Given the description of an element on the screen output the (x, y) to click on. 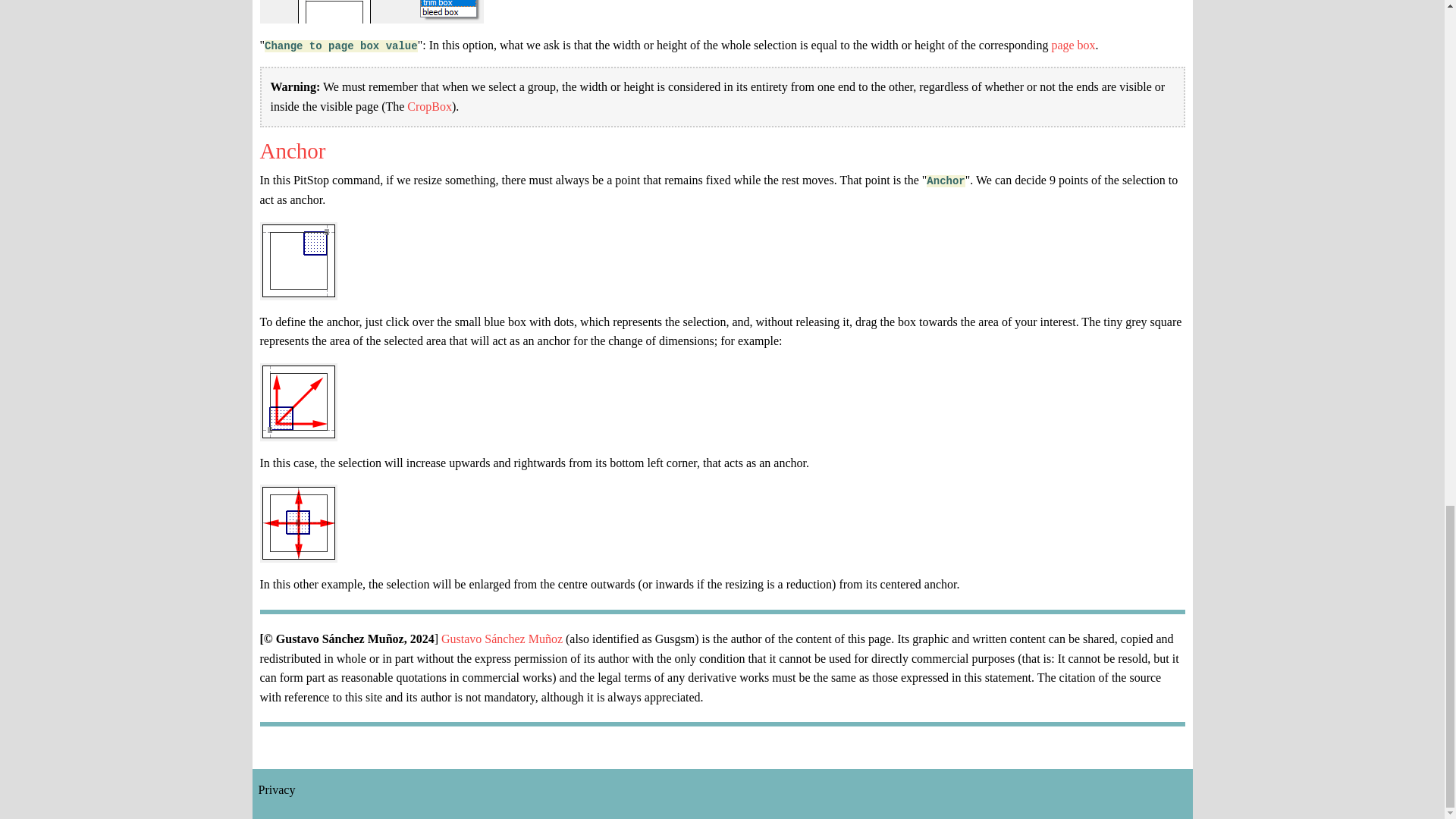
Page boxes in PDF (1072, 44)
Privacy (276, 789)
Our privacy policy (276, 789)
page box (1072, 44)
CropBox (429, 106)
Page boxes in PDF (429, 106)
